Given the description of an element on the screen output the (x, y) to click on. 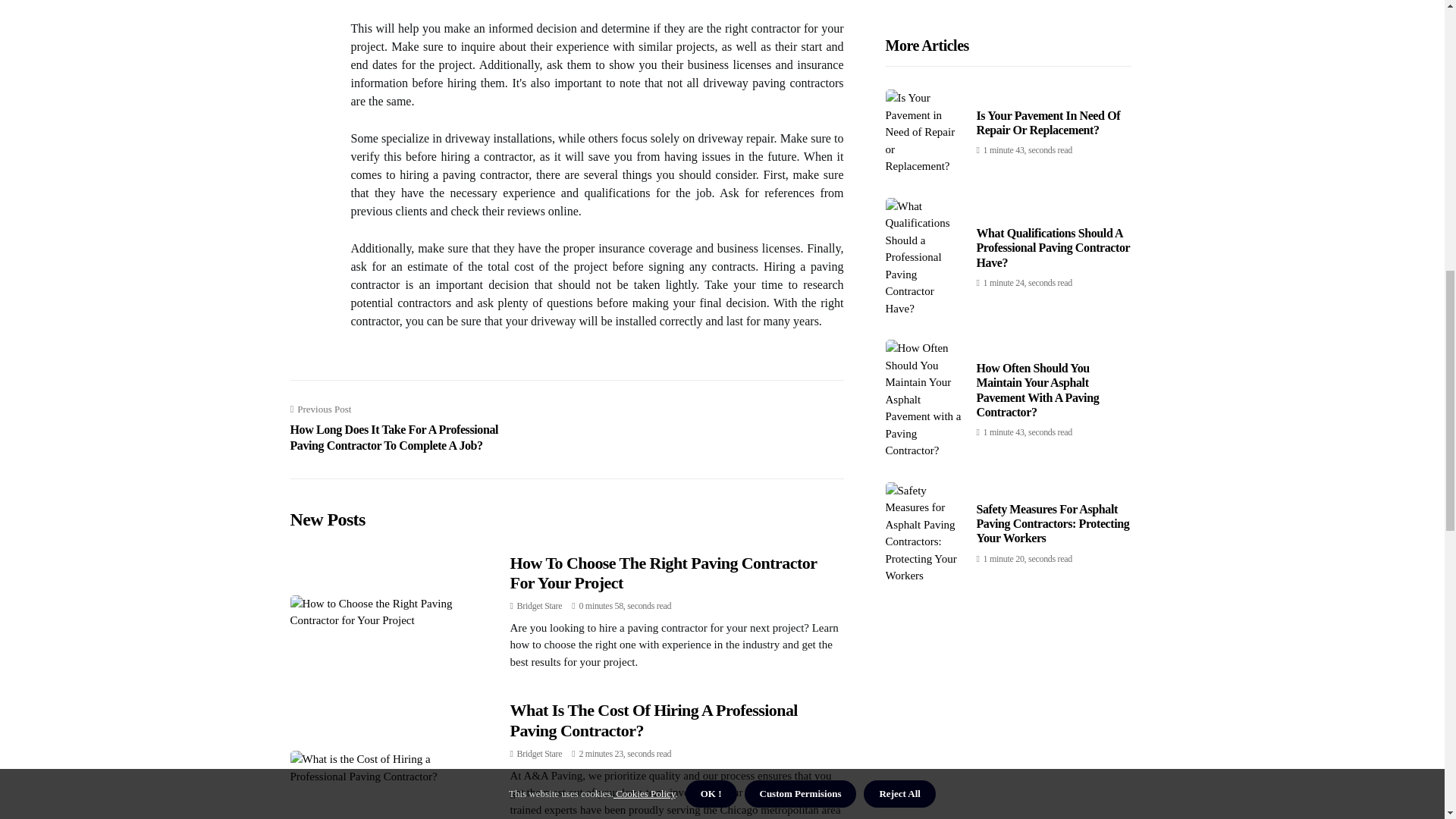
What Is The Cost Of Hiring A Professional Paving Contractor? (652, 720)
Bridget Stare (539, 605)
Posts by Bridget Stare (539, 753)
How To Choose The Right Paving Contractor For Your Project (662, 572)
Bridget Stare (539, 753)
Posts by Bridget Stare (539, 605)
